Given the description of an element on the screen output the (x, y) to click on. 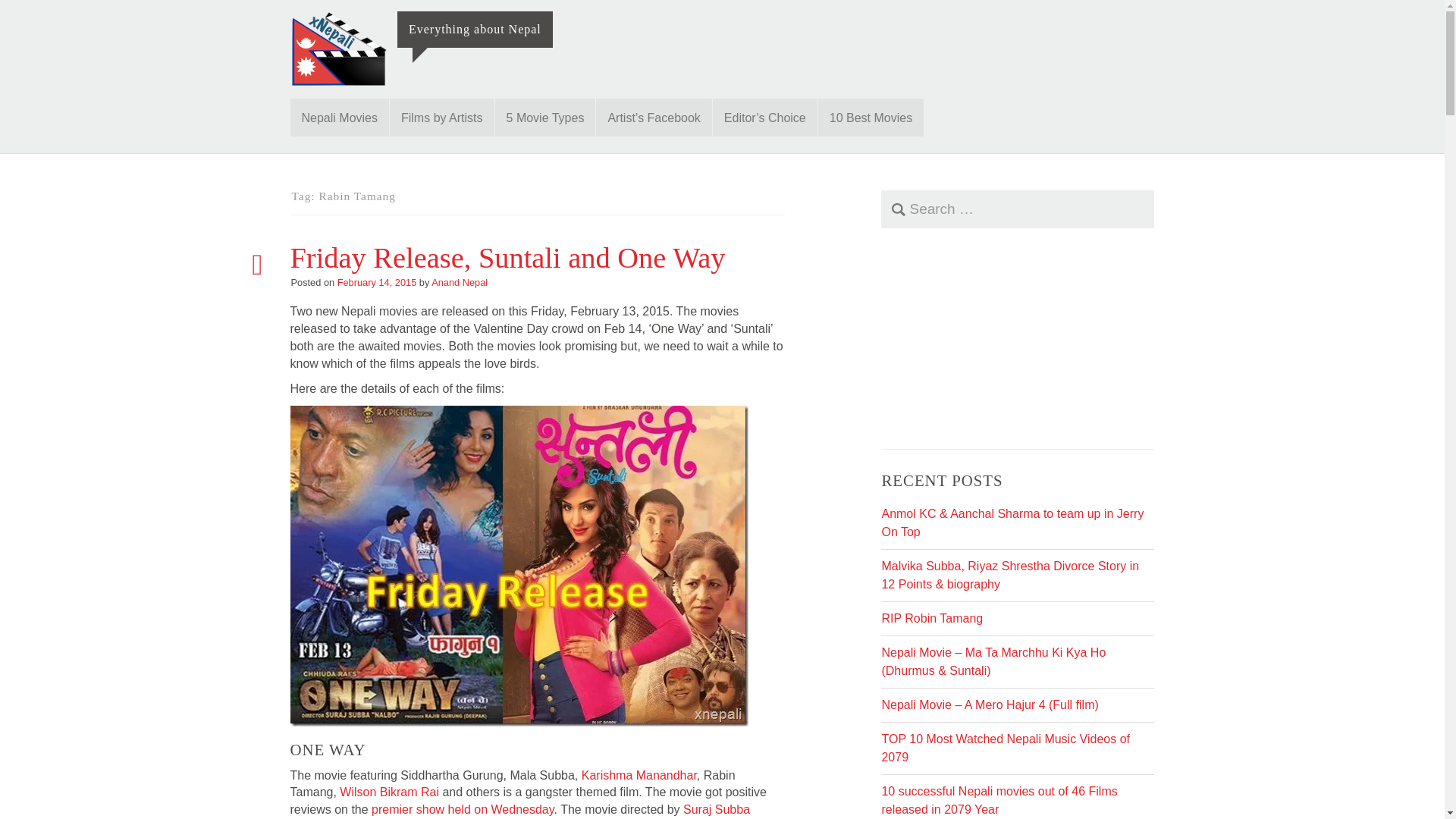
Suraj Subba (715, 809)
Karishma Manandhar (638, 775)
Wilson Bikram Rai (389, 791)
Films by Artists (442, 117)
Nepali Movies (338, 117)
Anand Nepal (458, 282)
Editor's Choice (764, 117)
Artist's Facebook (653, 117)
premier show held on Wednesday (462, 809)
Friday Release, Suntali and One Way (507, 257)
February 14, 2015 (376, 282)
10 Best Movies (870, 117)
Films by Artists (442, 117)
10 Best Movies (870, 117)
